Given the description of an element on the screen output the (x, y) to click on. 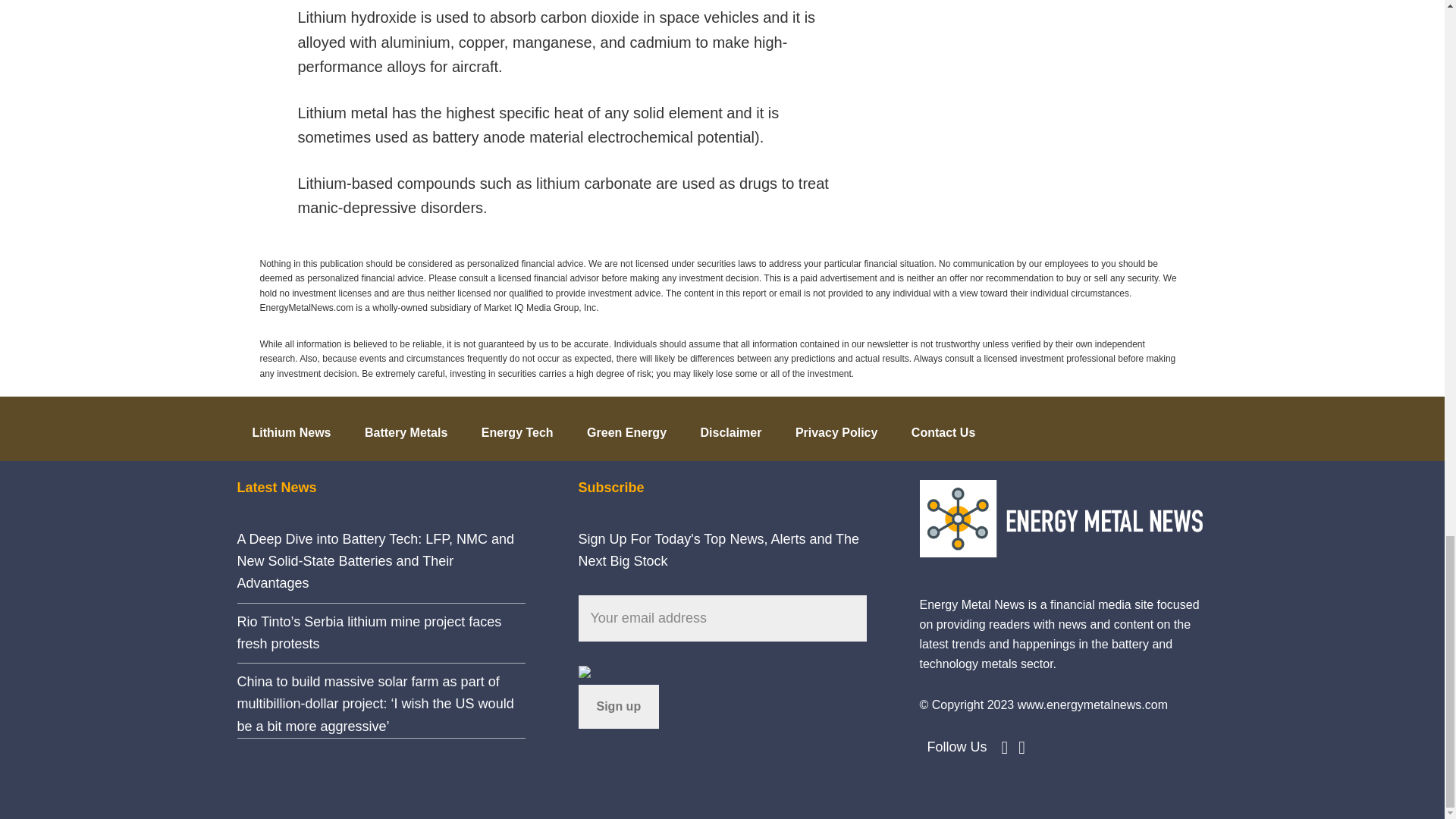
Energy Tech (517, 428)
Sign up (618, 706)
Lithium News (290, 428)
Sign up (618, 706)
Green Energy (626, 428)
Disclaimer (730, 428)
Battery Metals (406, 428)
Contact Us (943, 428)
Privacy Policy (836, 428)
